Given the description of an element on the screen output the (x, y) to click on. 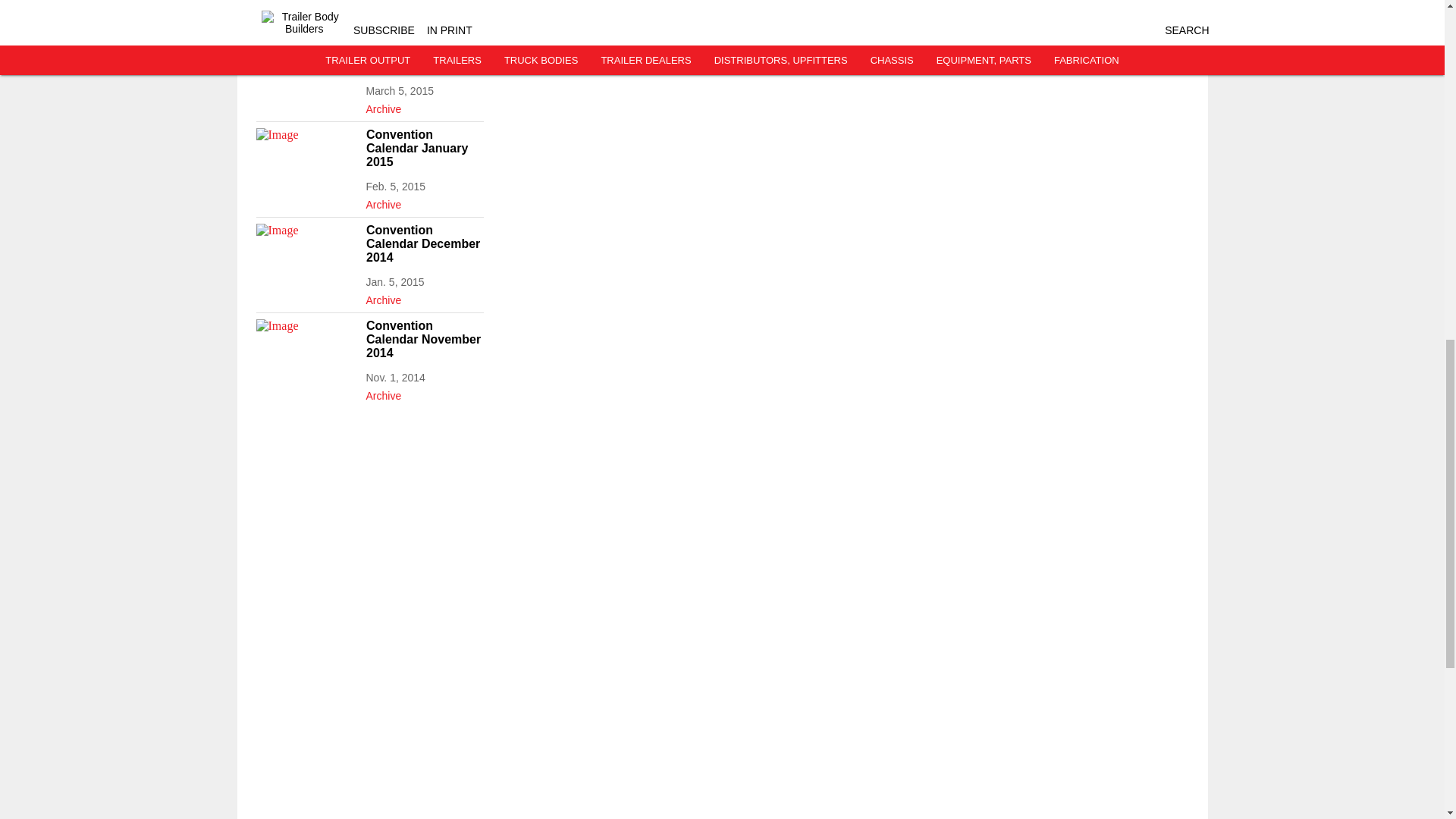
Image (307, 60)
Archive (424, 106)
Image (307, 251)
Image (307, 347)
Image (307, 156)
Archive (424, 10)
Convention Calendar December 2014 (424, 243)
Archive (424, 297)
Convention Calendar January 2015 (424, 147)
Convention Calendar February 2015 (424, 52)
Archive (424, 201)
Archive (424, 393)
Convention Calendar November 2014 (424, 339)
